Given the description of an element on the screen output the (x, y) to click on. 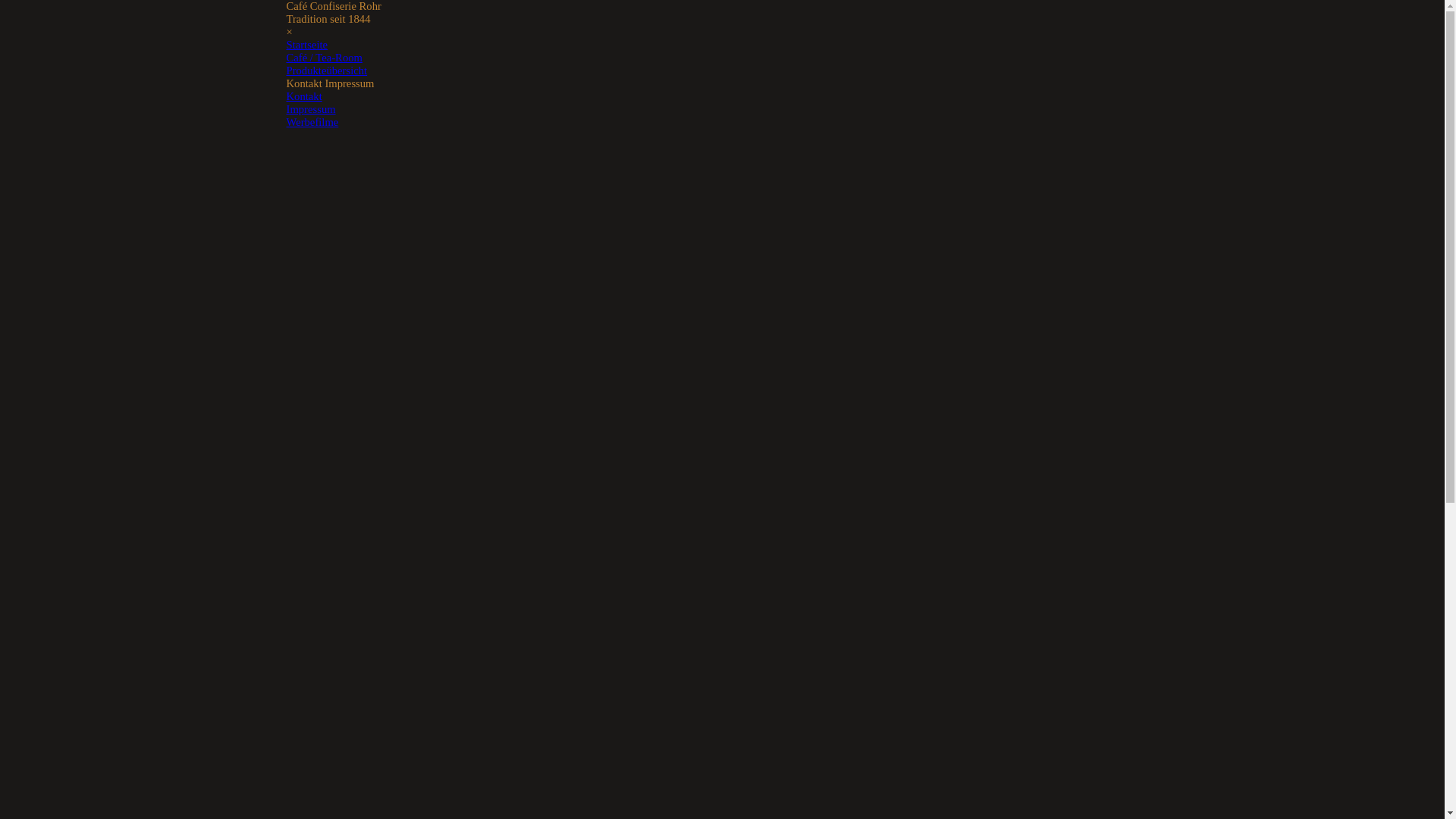
Startseite Element type: text (307, 44)
Impressum Element type: text (310, 109)
Werbefilme Element type: text (312, 122)
Kontakt Element type: text (304, 96)
